Given the description of an element on the screen output the (x, y) to click on. 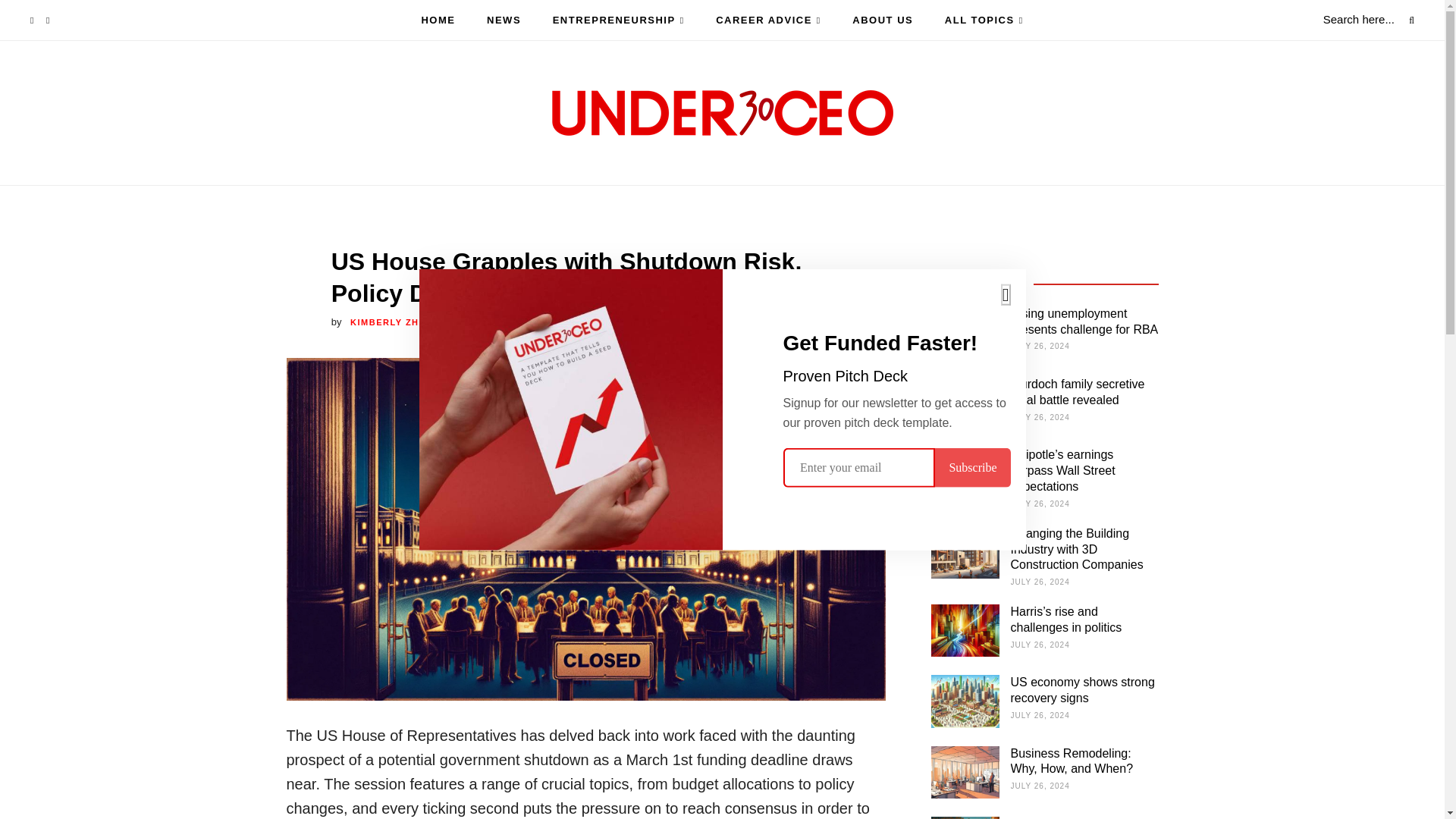
CAREER ADVICE (768, 20)
Posts by Kimberly Zhang (395, 321)
ENTREPRENEURSHIP (618, 20)
ALL TOPICS (983, 20)
ABOUT US (881, 20)
